Given the description of an element on the screen output the (x, y) to click on. 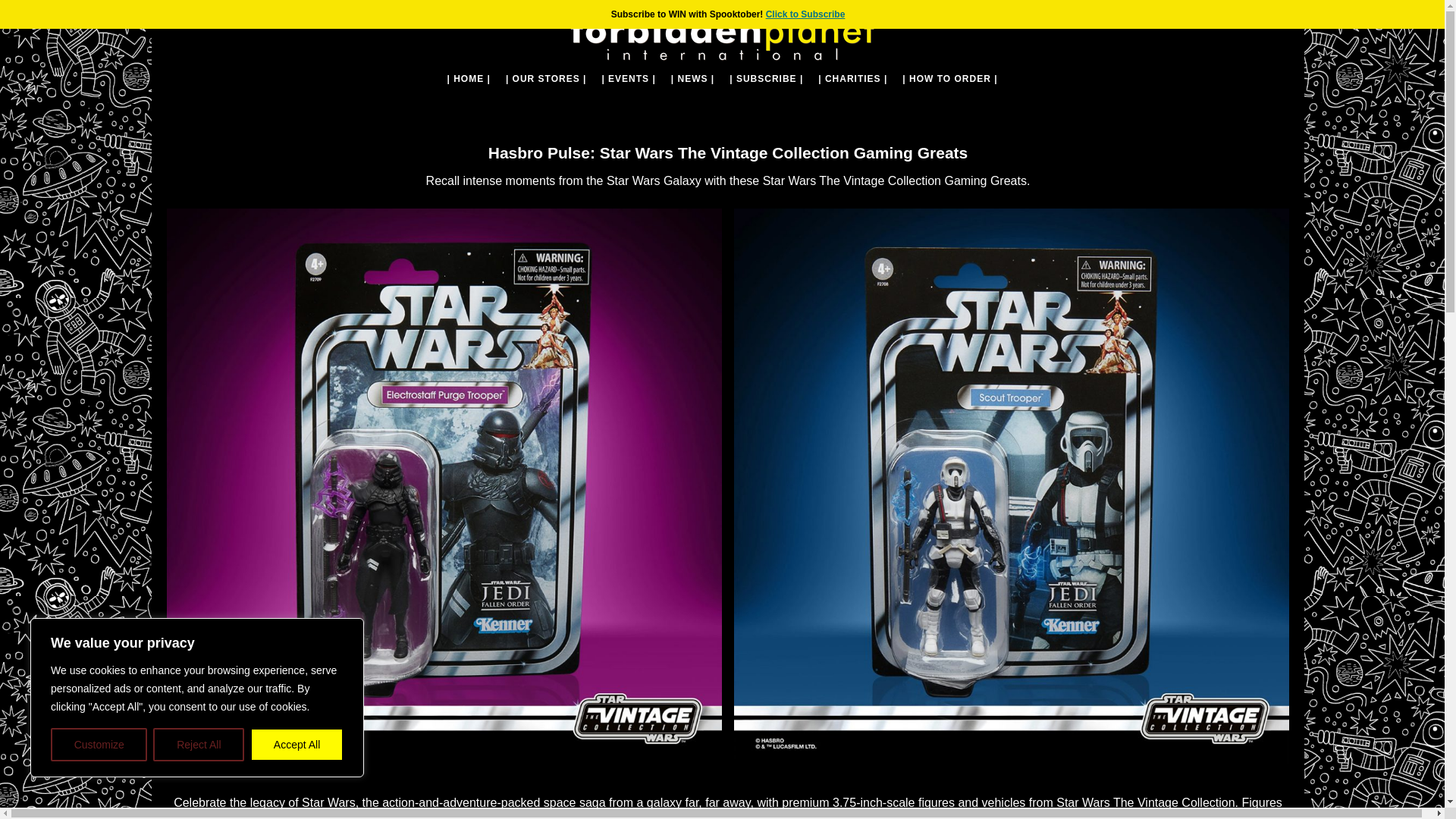
Customize (98, 744)
Reject All (198, 744)
Click to Subscribe (805, 14)
Accept All (296, 744)
